Given the description of an element on the screen output the (x, y) to click on. 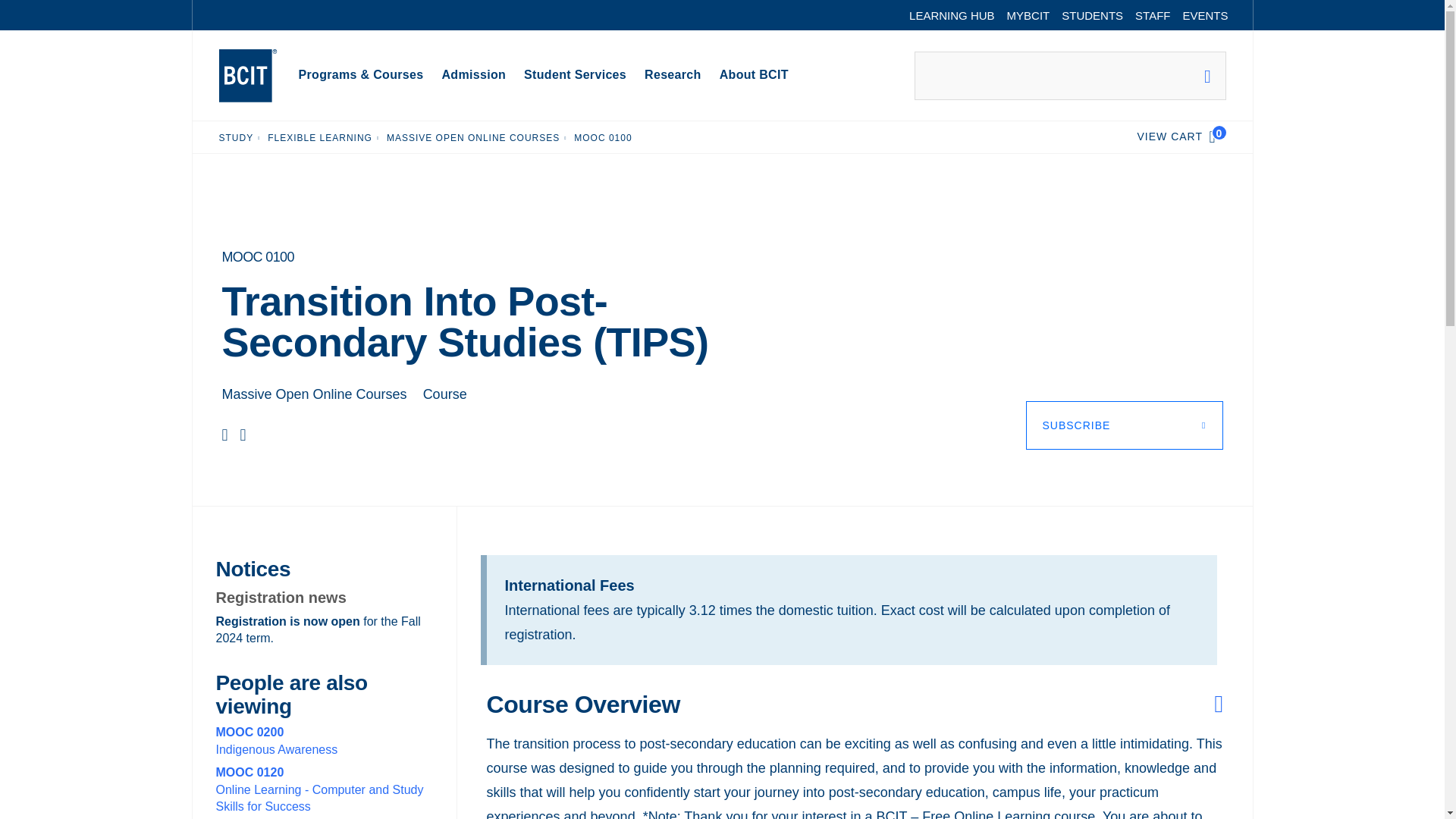
Massive Open Online Courses (473, 137)
LEARNING HUB (951, 15)
Study (235, 137)
MYBCIT (1029, 15)
Student Services (574, 75)
Admission (473, 75)
STUDENTS (1092, 15)
Flexible Learning (320, 137)
MOOC 0100 (602, 137)
EVENTS (1204, 15)
STAFF (1152, 15)
